Given the description of an element on the screen output the (x, y) to click on. 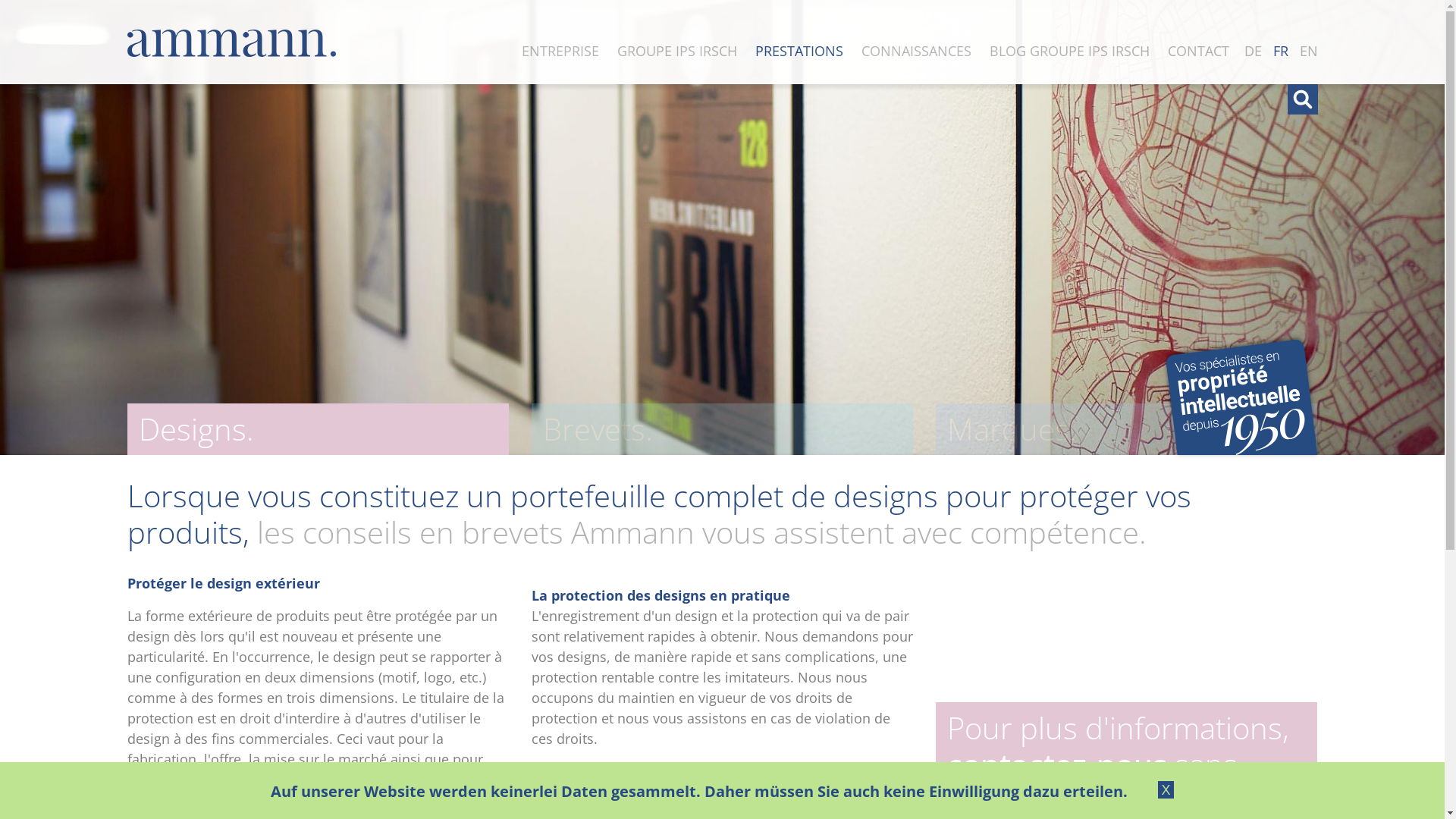
PRESTATIONS Element type: text (799, 50)
X Element type: text (1165, 789)
DE Element type: text (1252, 50)
FR Element type: text (1279, 50)
BLOG GROUPE IPS IRSCH Element type: text (1068, 50)
ENTREPRISE Element type: text (560, 50)
GROUPE IPS IRSCH Element type: text (677, 50)
Home Element type: hover (231, 42)
contactez-nous Element type: text (1057, 763)
Designs. Element type: text (317, 429)
EN Element type: text (1308, 50)
Brevets. Element type: text (722, 429)
CONNAISSANCES Element type: text (916, 50)
CONTACT Element type: text (1198, 50)
Marques. Element type: text (1126, 429)
